Given the description of an element on the screen output the (x, y) to click on. 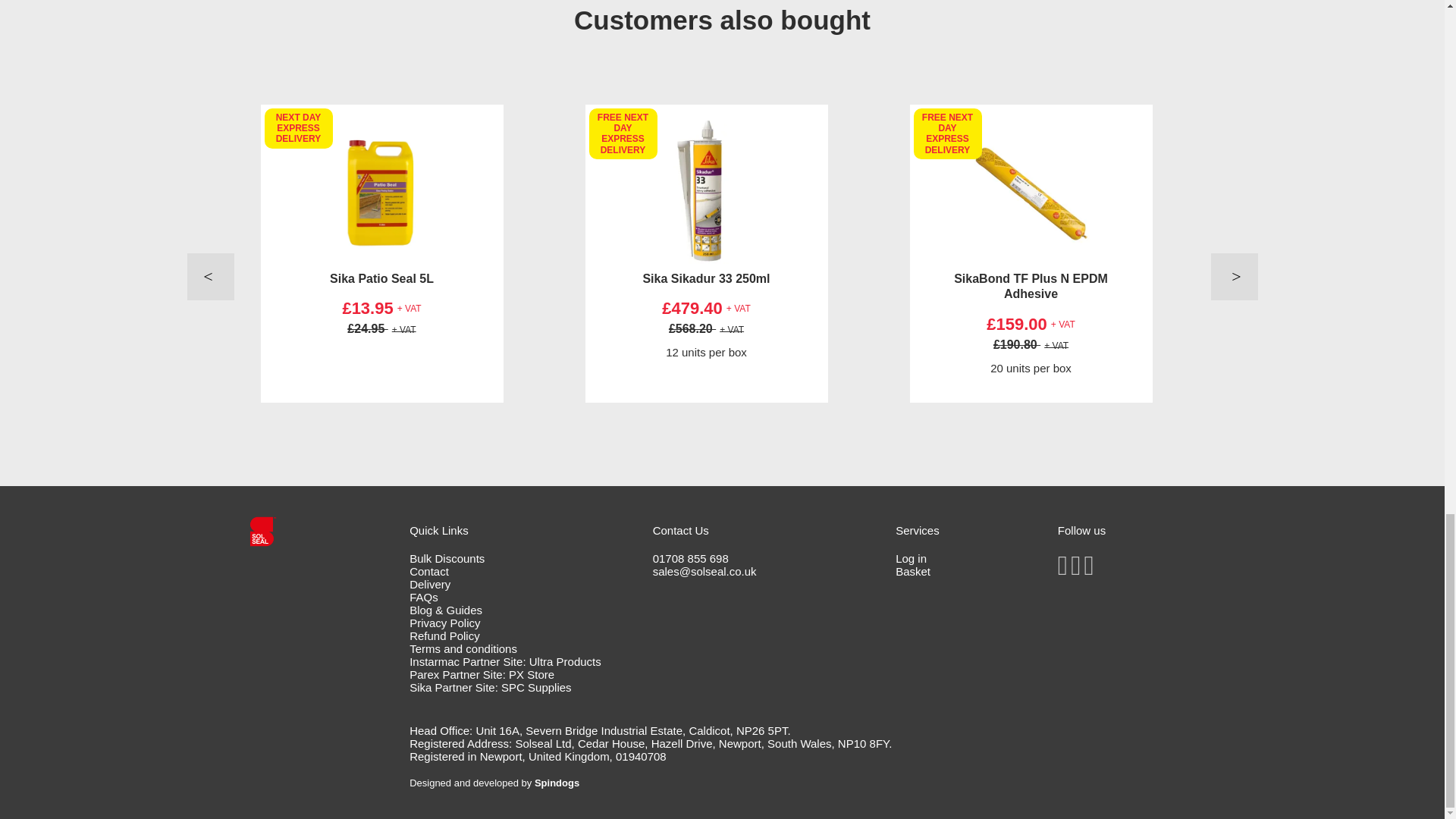
Instarmac Partner Site: Ultra Products (505, 661)
Delivery (429, 584)
Bulk Discounts (446, 558)
Parex Partner Site: PX Store (481, 674)
FAQs (423, 596)
Sika Partner Site: SPC Supplies (489, 686)
Privacy Policy (444, 622)
Contact (428, 571)
Terms and conditions (462, 648)
Refund Policy (444, 635)
